Given the description of an element on the screen output the (x, y) to click on. 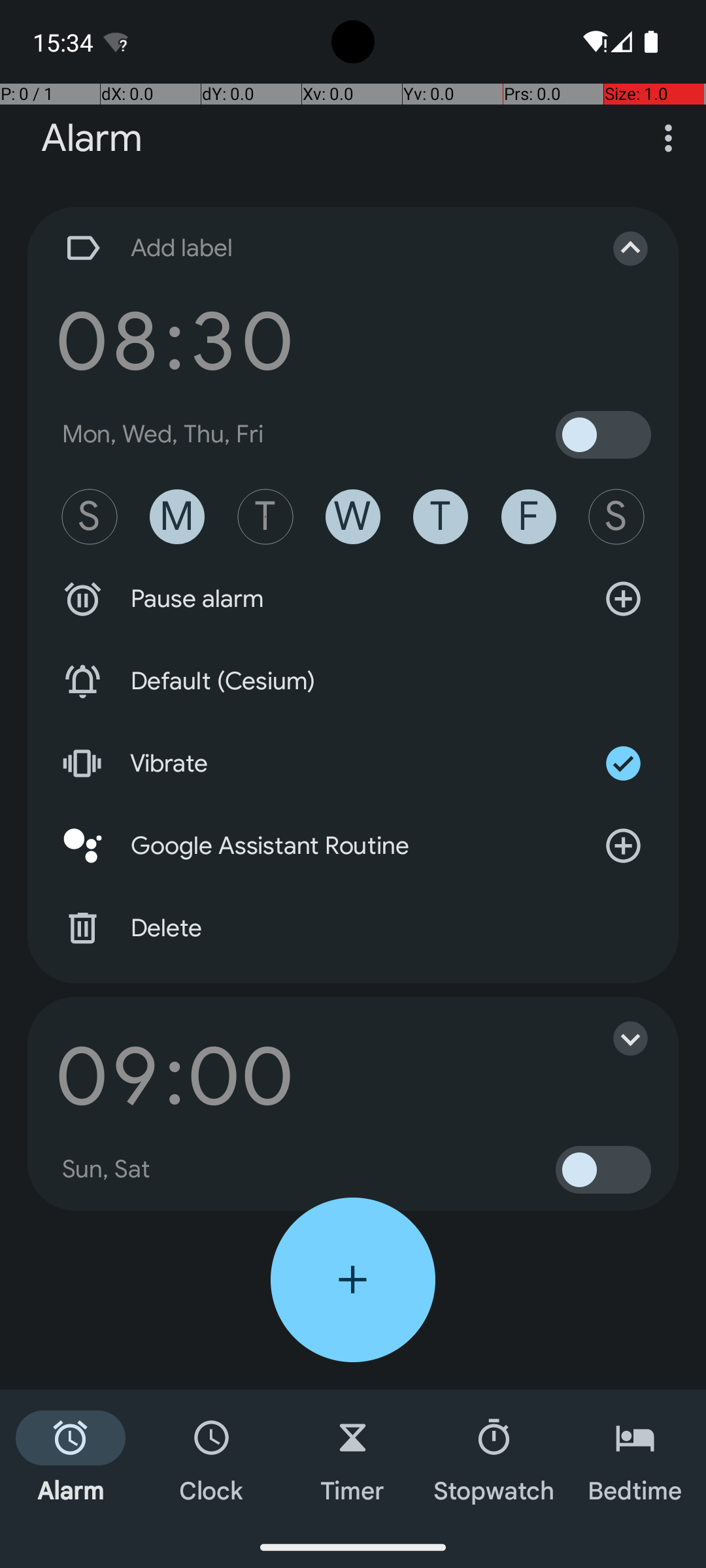
Add label Element type: android.widget.TextView (318, 248)
Collapse alarm Element type: android.widget.ImageButton (616, 248)
Mon, Wed, Thu, Fri Element type: android.widget.TextView (162, 433)
Pause alarm Element type: android.widget.TextView (352, 598)
Google Assistant Routine Element type: android.widget.TextView (352, 845)
